Given the description of an element on the screen output the (x, y) to click on. 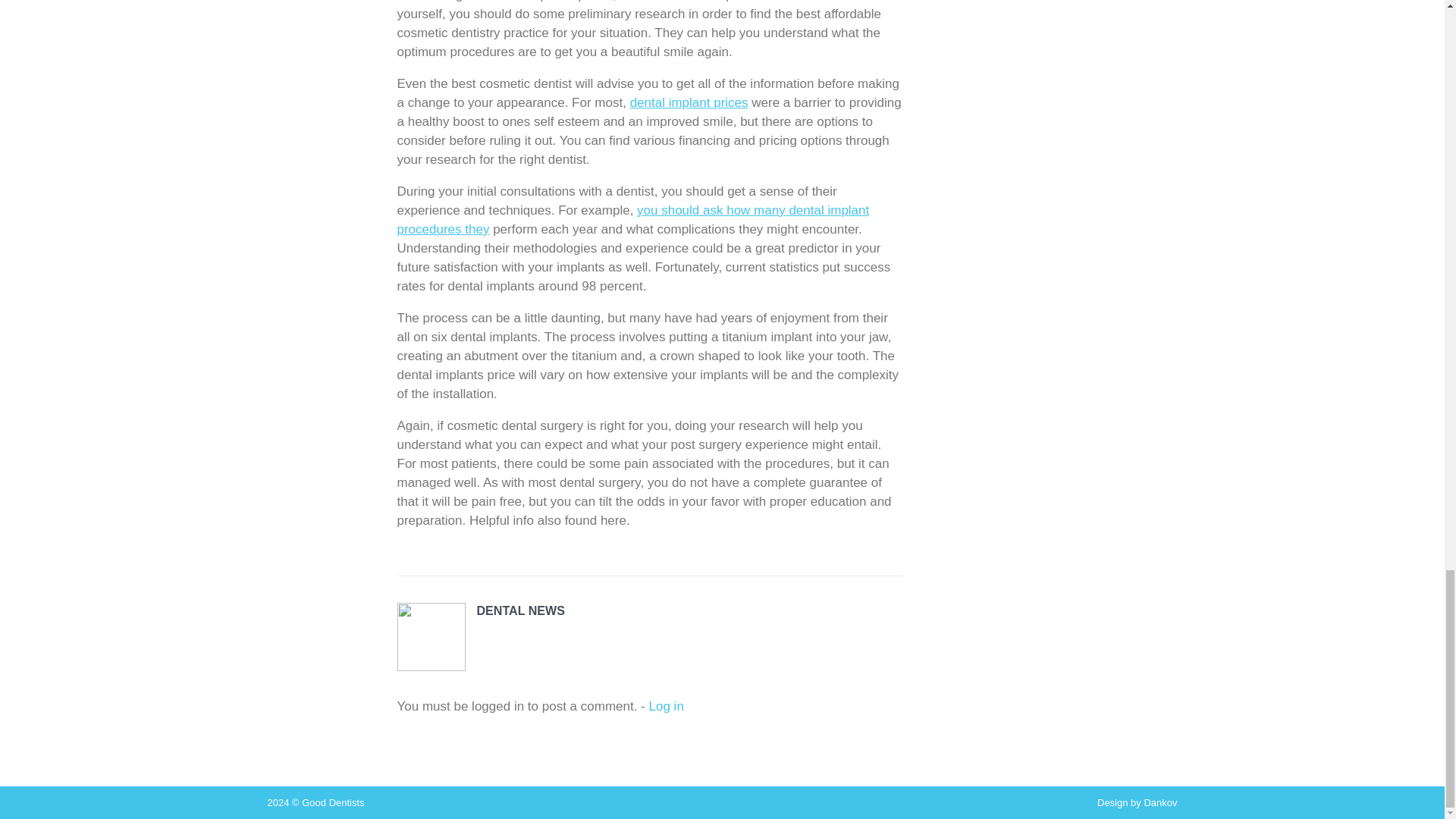
you should ask how many dental implant procedures they (633, 219)
Dankov (1159, 802)
Log in (666, 706)
dental implant prices (689, 102)
Indianapolis all in four dental implants (633, 219)
Dental implant procedure, Dental implant procedure (689, 102)
